Given the description of an element on the screen output the (x, y) to click on. 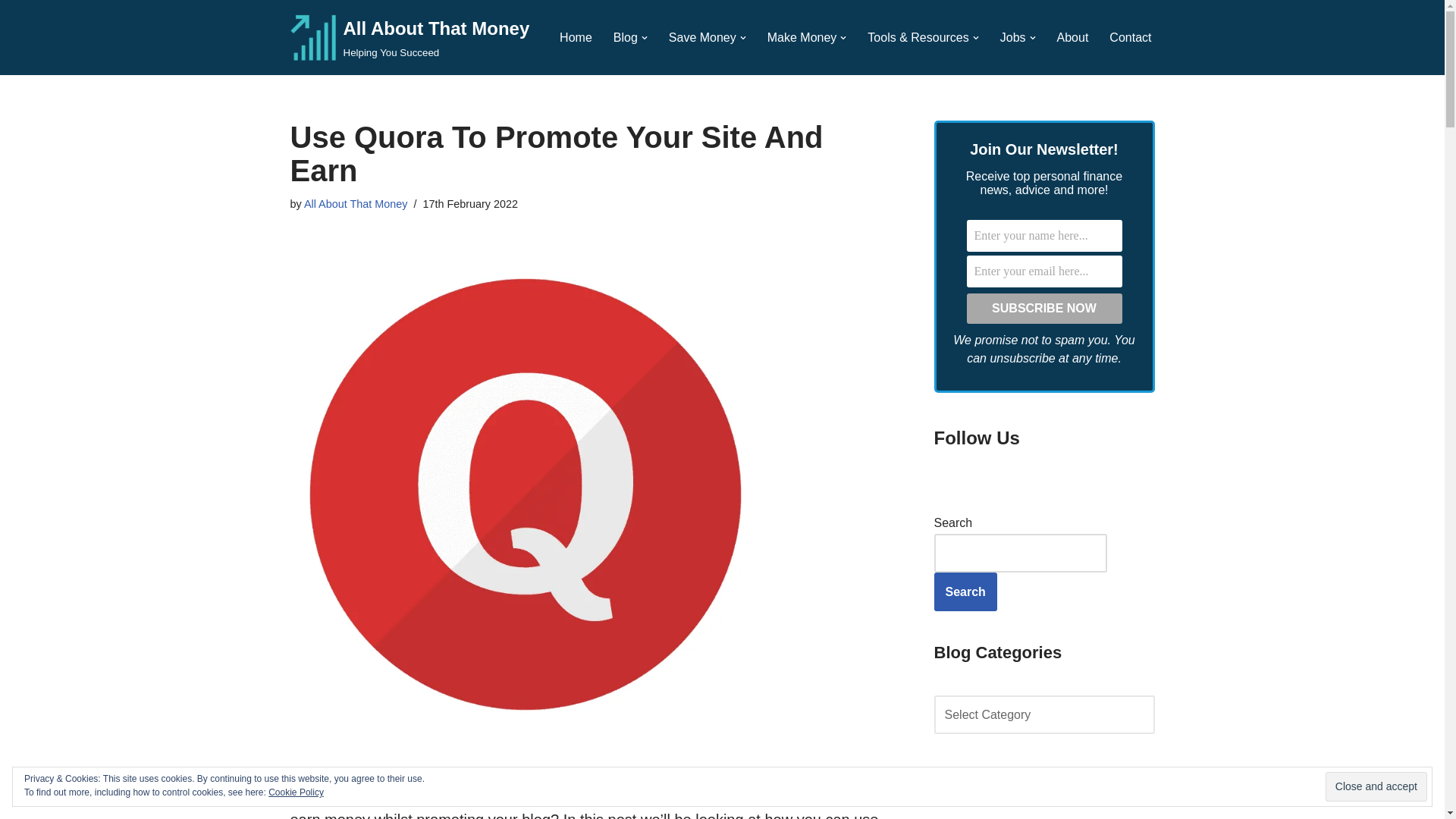
Home (575, 37)
Subscribe Now (1043, 308)
Make Money (802, 37)
Close and accept (1375, 786)
Blog (624, 37)
Save Money (702, 37)
Posts by All About That Money (409, 37)
Skip to content (355, 203)
